Given the description of an element on the screen output the (x, y) to click on. 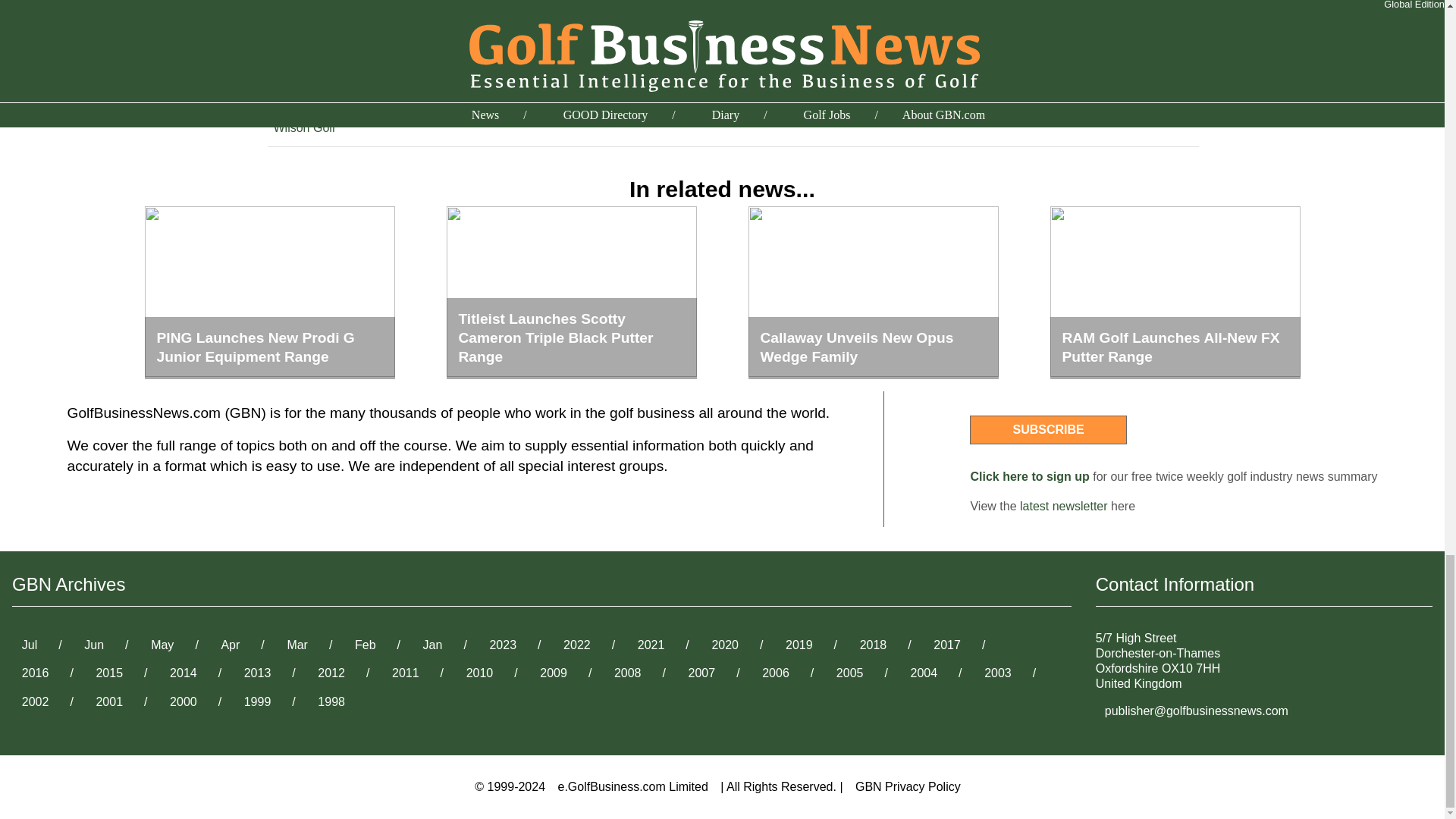
RAM Golf Launches All-New FX Putter Range (1174, 292)
latest newsletter (1064, 505)
Wilson Golf (303, 127)
Share on Twitter (993, 21)
Share on LinkedIn (998, 51)
SUBSCRIBE (1047, 429)
Callaway Unveils New Opus Wedge Family (872, 292)
Titleist Launches Scotty Cameron Triple Black Putter Range (570, 292)
Click here to sign up (1029, 476)
PING Launches New Prodi G Junior Equipment Range (269, 292)
Jul (29, 644)
May (162, 644)
Jun (94, 644)
